Given the description of an element on the screen output the (x, y) to click on. 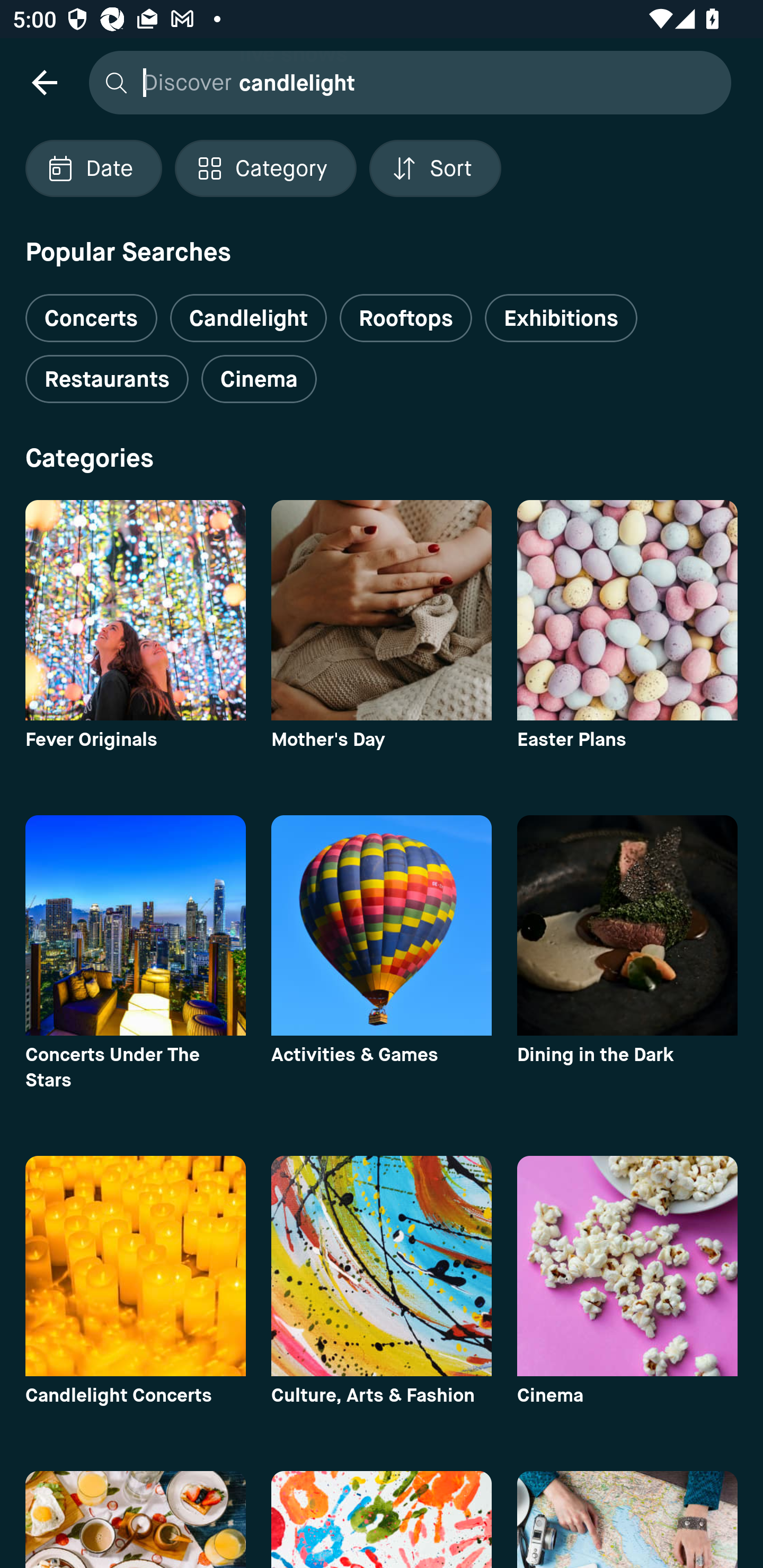
navigation icon (44, 81)
Discover live shows candlelight (405, 81)
Localized description Date (93, 168)
Localized description Category (265, 168)
Localized description Sort (435, 168)
Concerts (91, 310)
Candlelight (248, 317)
Rooftops (405, 317)
Exhibitions (560, 317)
Restaurants (106, 379)
Cinema (258, 379)
category image (135, 609)
category image (381, 609)
category image (627, 609)
category image (135, 924)
category image (381, 924)
category image (627, 924)
category image (135, 1265)
category image (381, 1265)
category image (627, 1265)
